Given the description of an element on the screen output the (x, y) to click on. 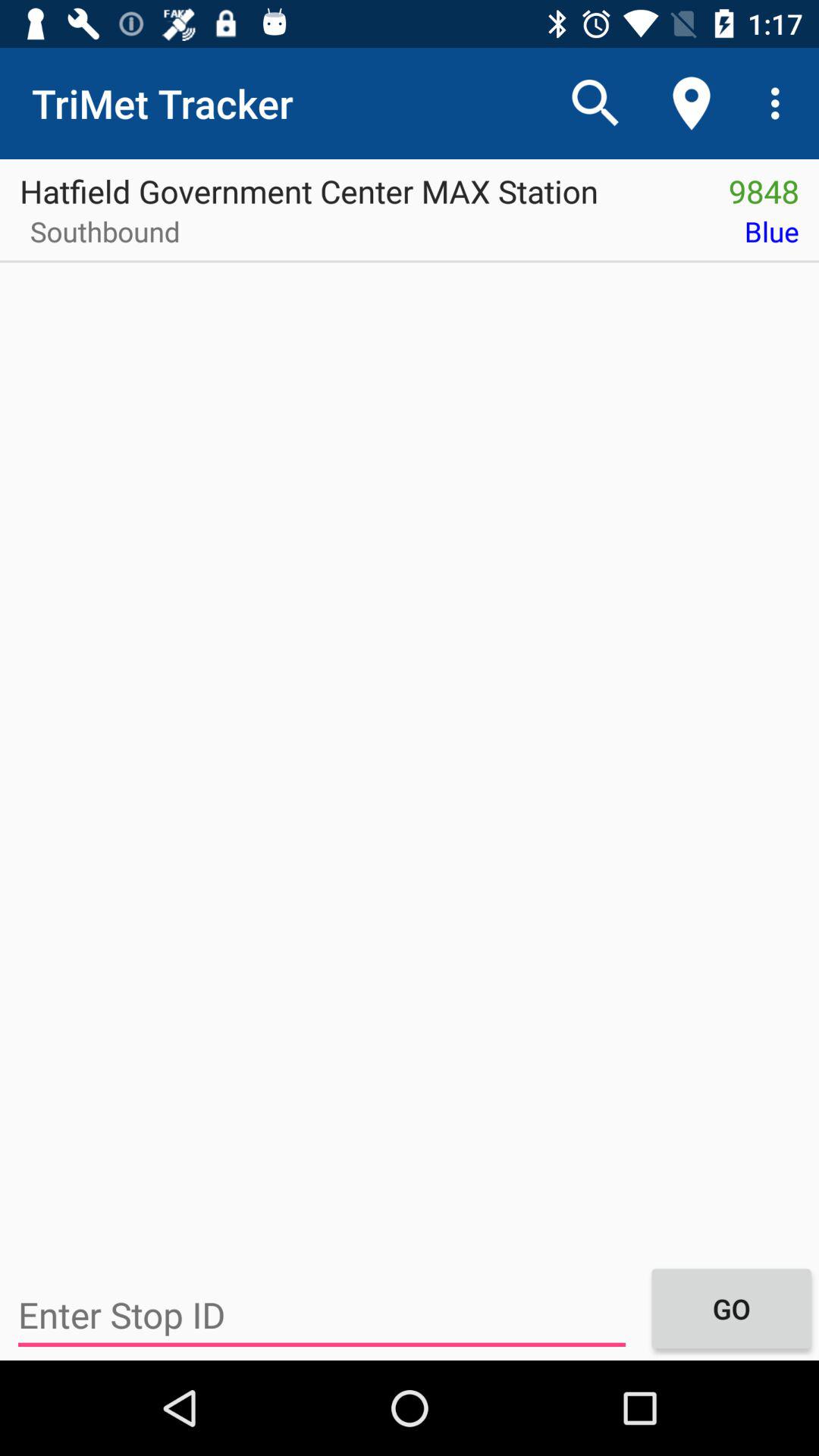
click item to the right of the trimet tracker item (595, 103)
